Given the description of an element on the screen output the (x, y) to click on. 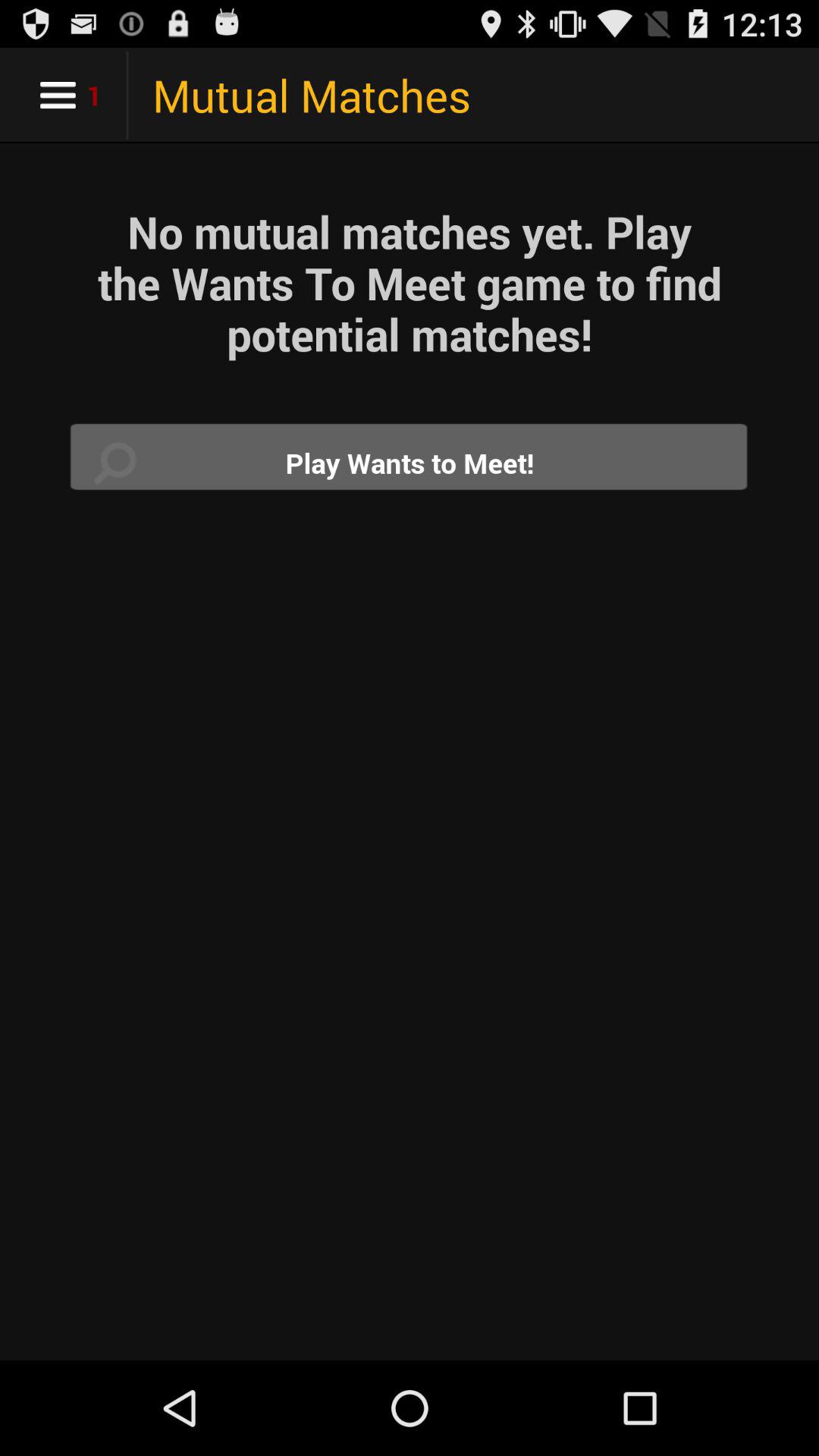
search for match (409, 462)
